Given the description of an element on the screen output the (x, y) to click on. 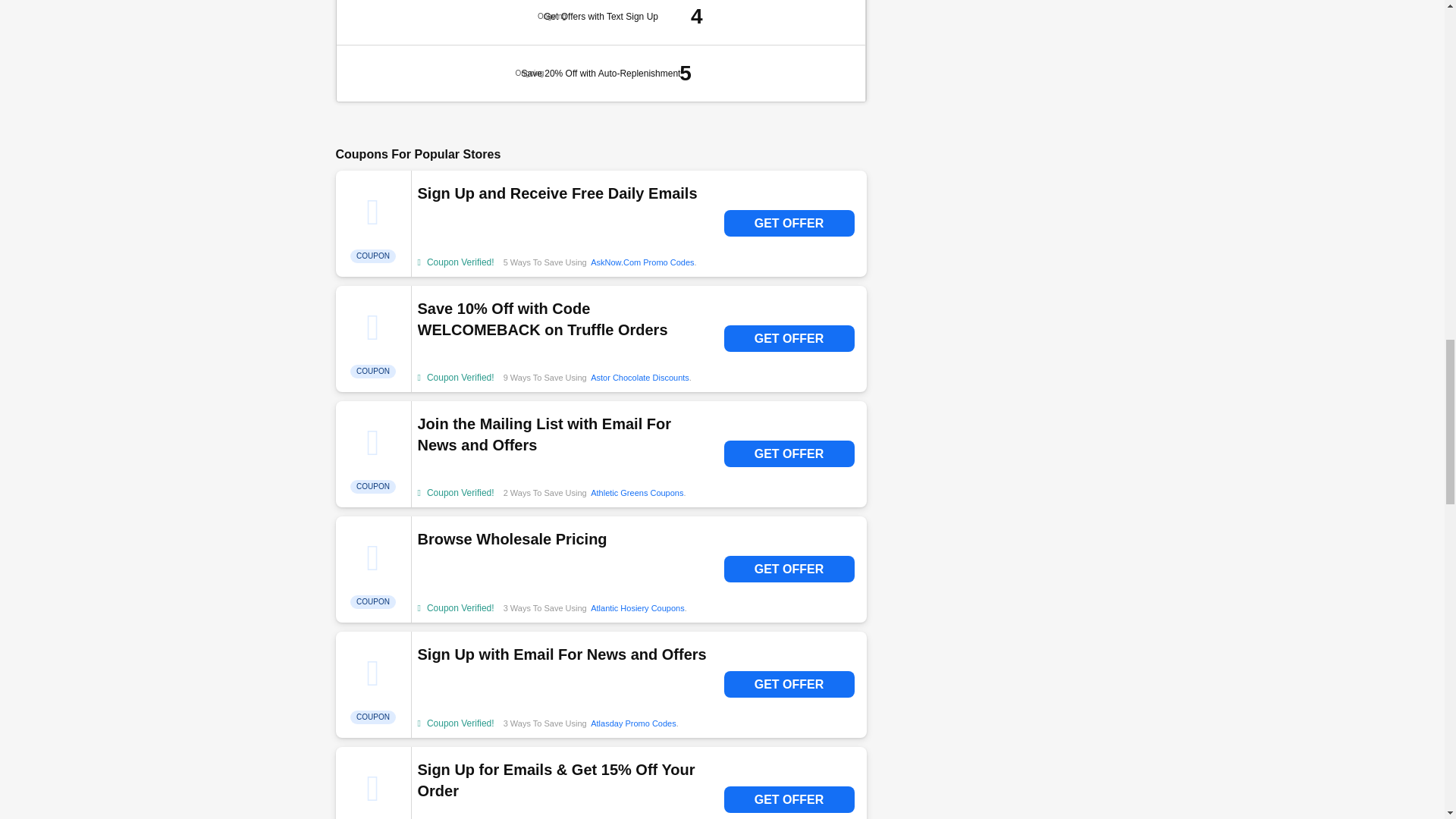
Astor Chocolate Discounts (639, 377)
AskNow.Com Promo Codes (642, 261)
